Given the description of an element on the screen output the (x, y) to click on. 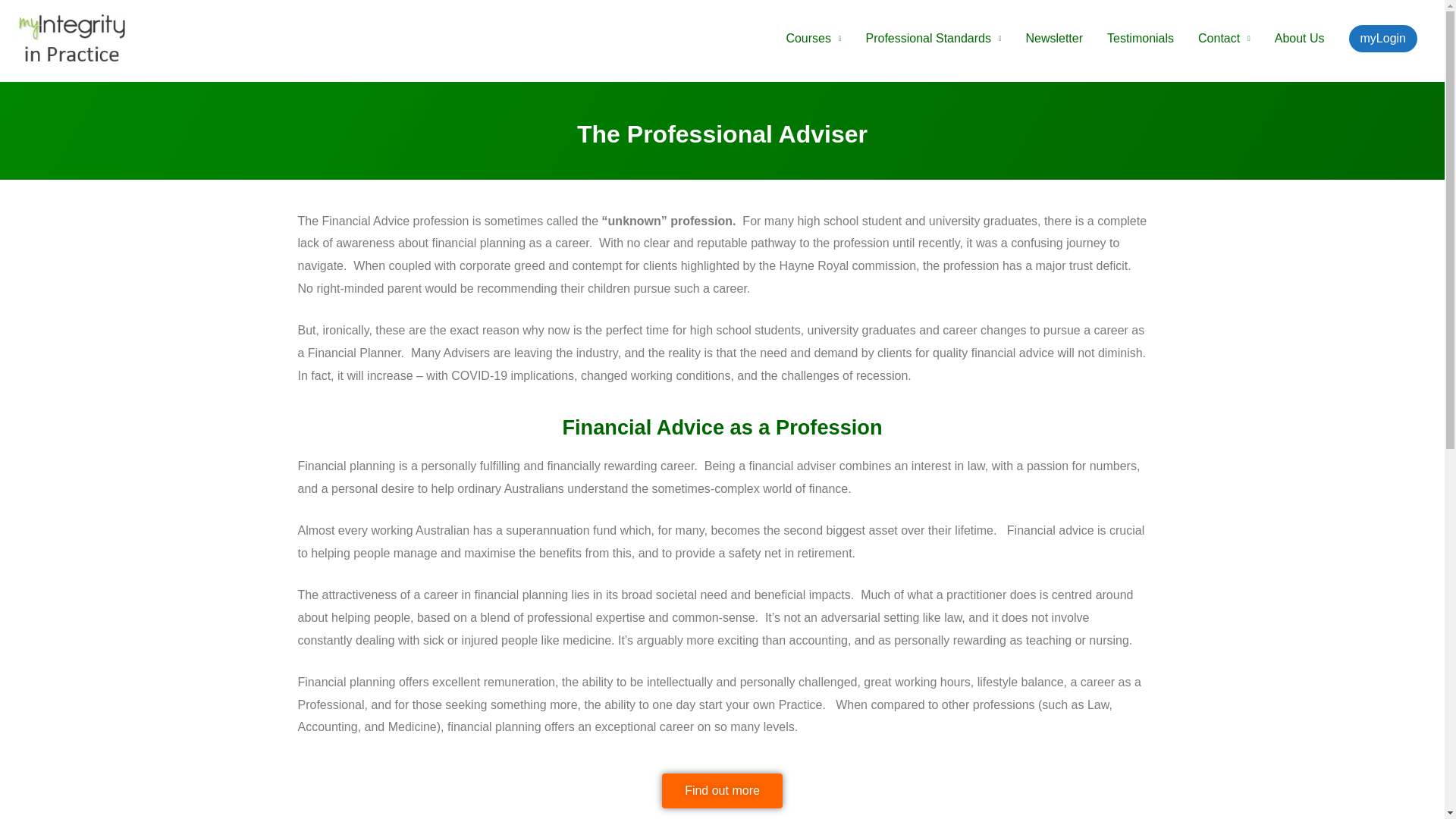
Courses (813, 37)
myLogin (1382, 37)
About Us (1299, 37)
Testimonials (1140, 37)
Professional Standards (933, 37)
Contact (1224, 37)
Find out more (722, 790)
Newsletter (1053, 37)
